Given the description of an element on the screen output the (x, y) to click on. 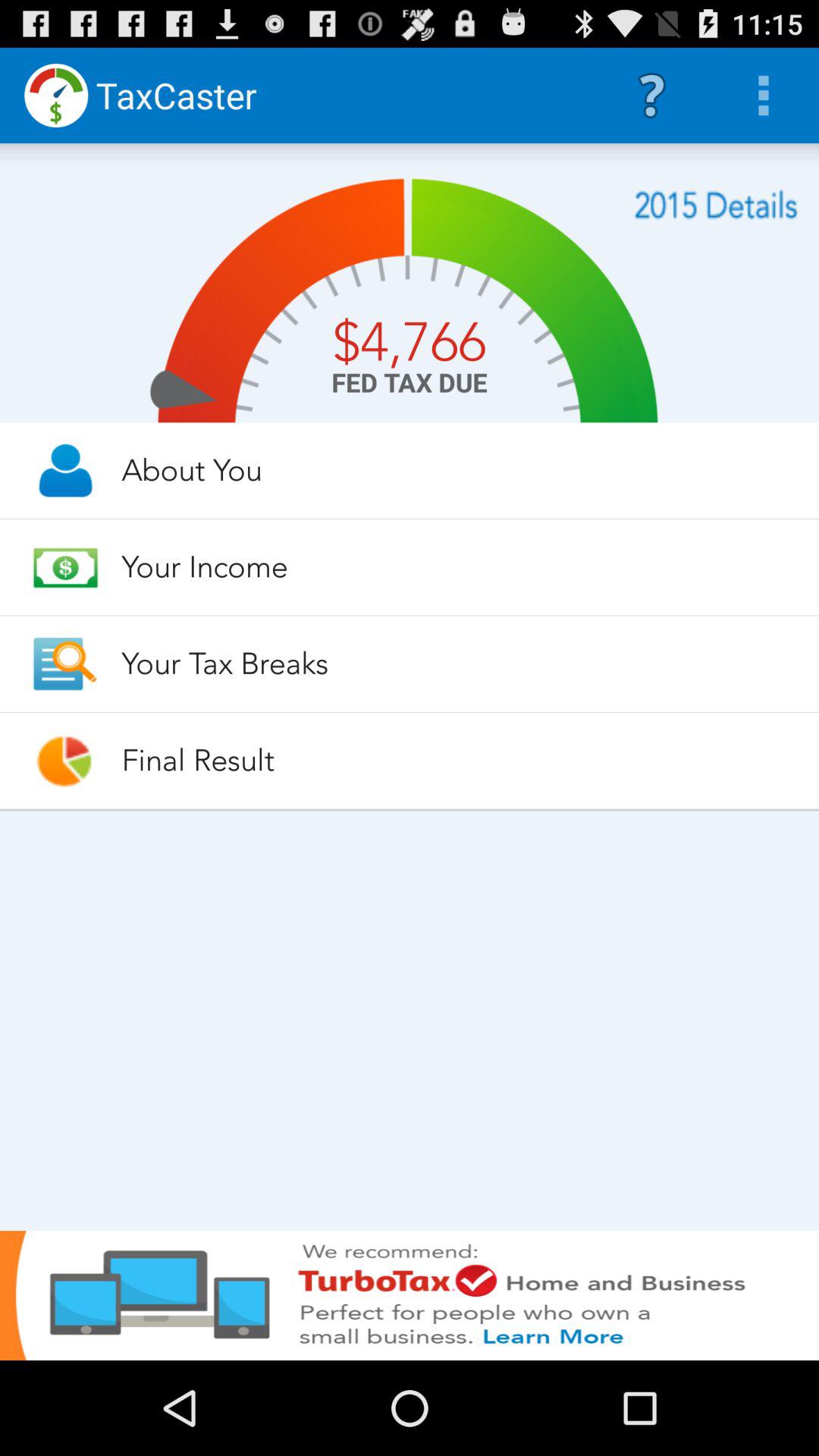
see information for the year 2015 (715, 204)
